Given the description of an element on the screen output the (x, y) to click on. 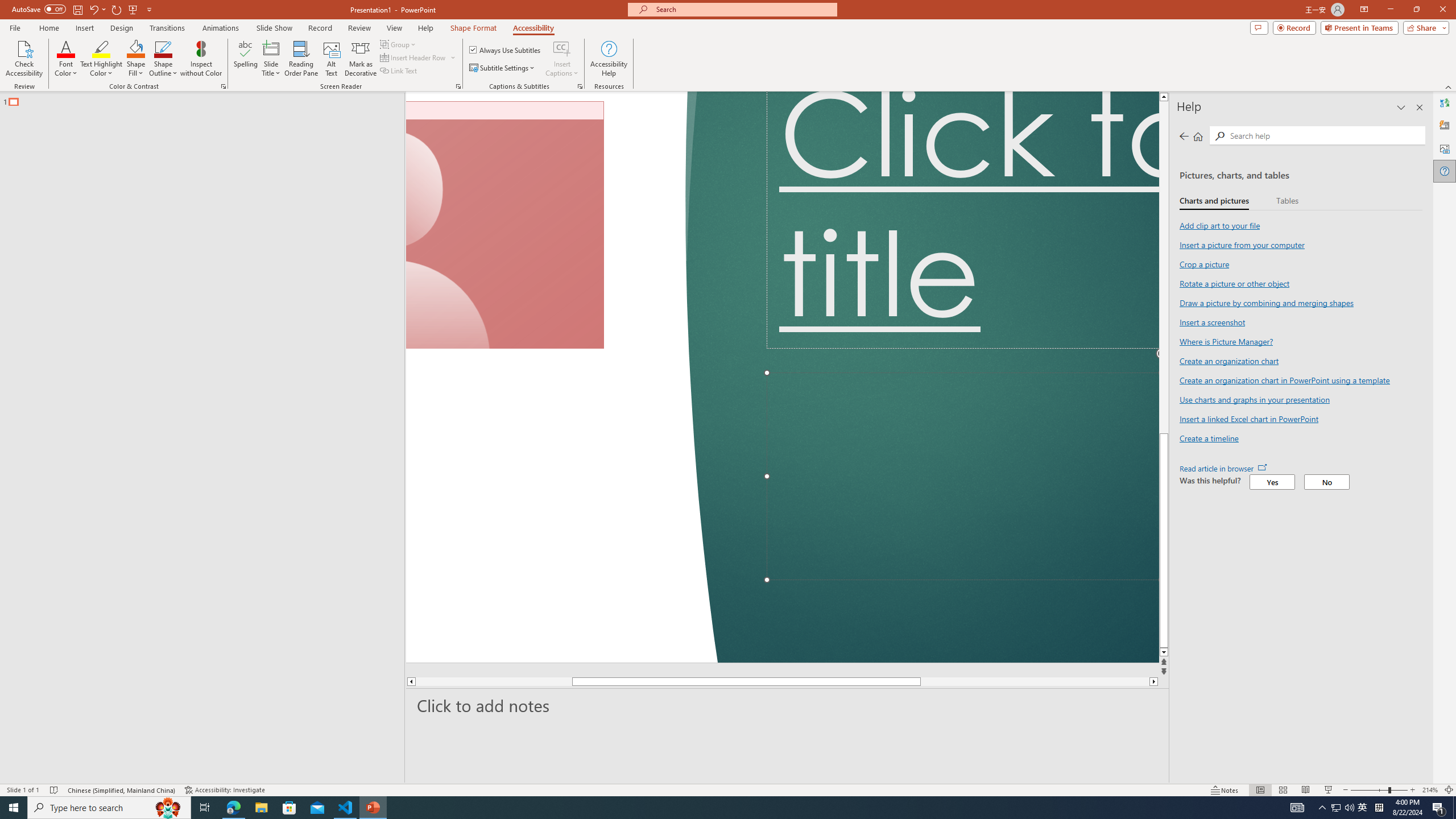
Subtitle Settings (502, 67)
Zoom 214% (1430, 790)
Captions & Subtitles (580, 85)
Screen Reader (458, 85)
Read article in browser (1222, 468)
Draw a picture by combining and merging shapes (1266, 302)
Slide Title (271, 58)
